Given the description of an element on the screen output the (x, y) to click on. 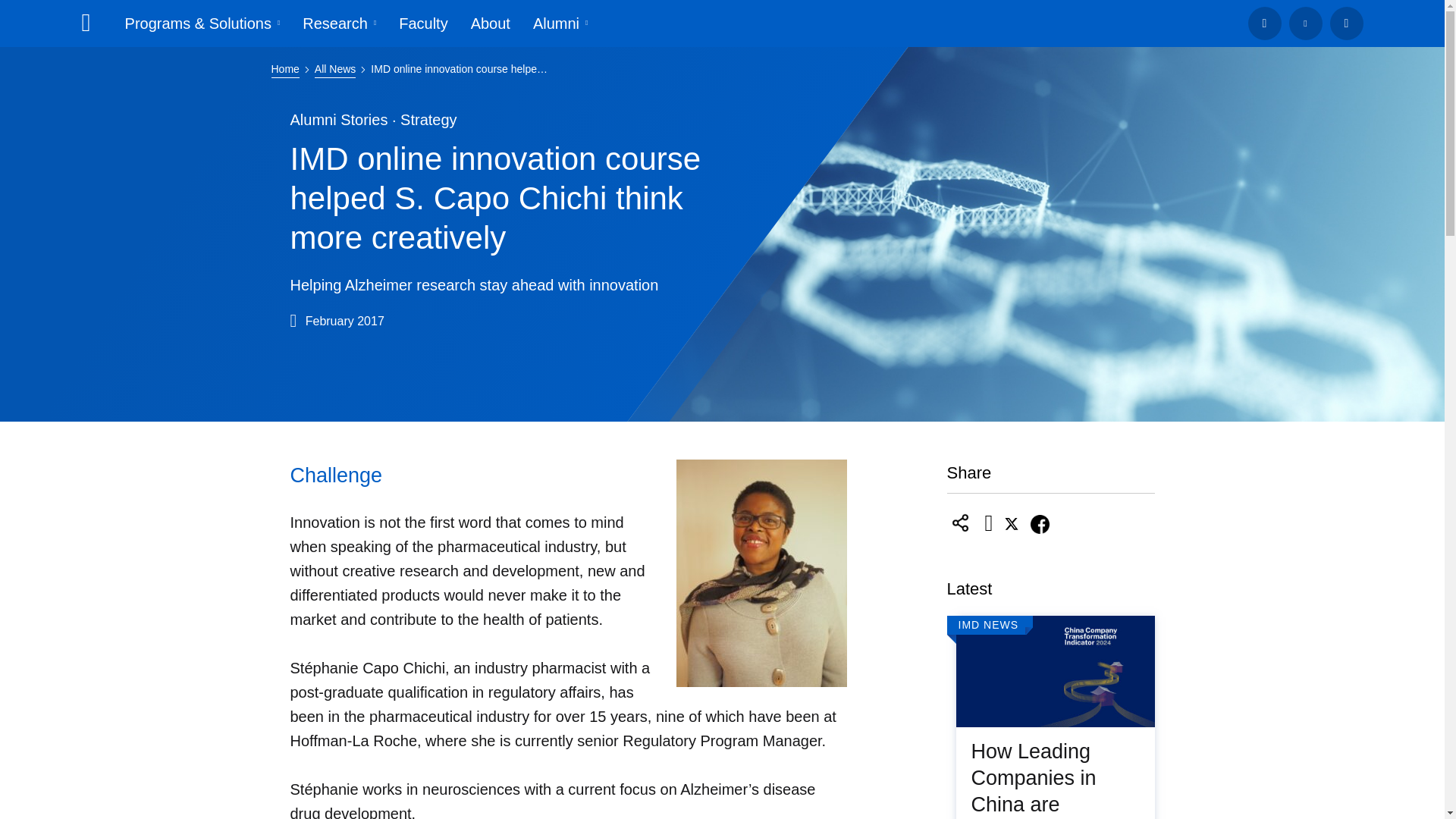
is002-17 - IMD Business School (762, 573)
